Given the description of an element on the screen output the (x, y) to click on. 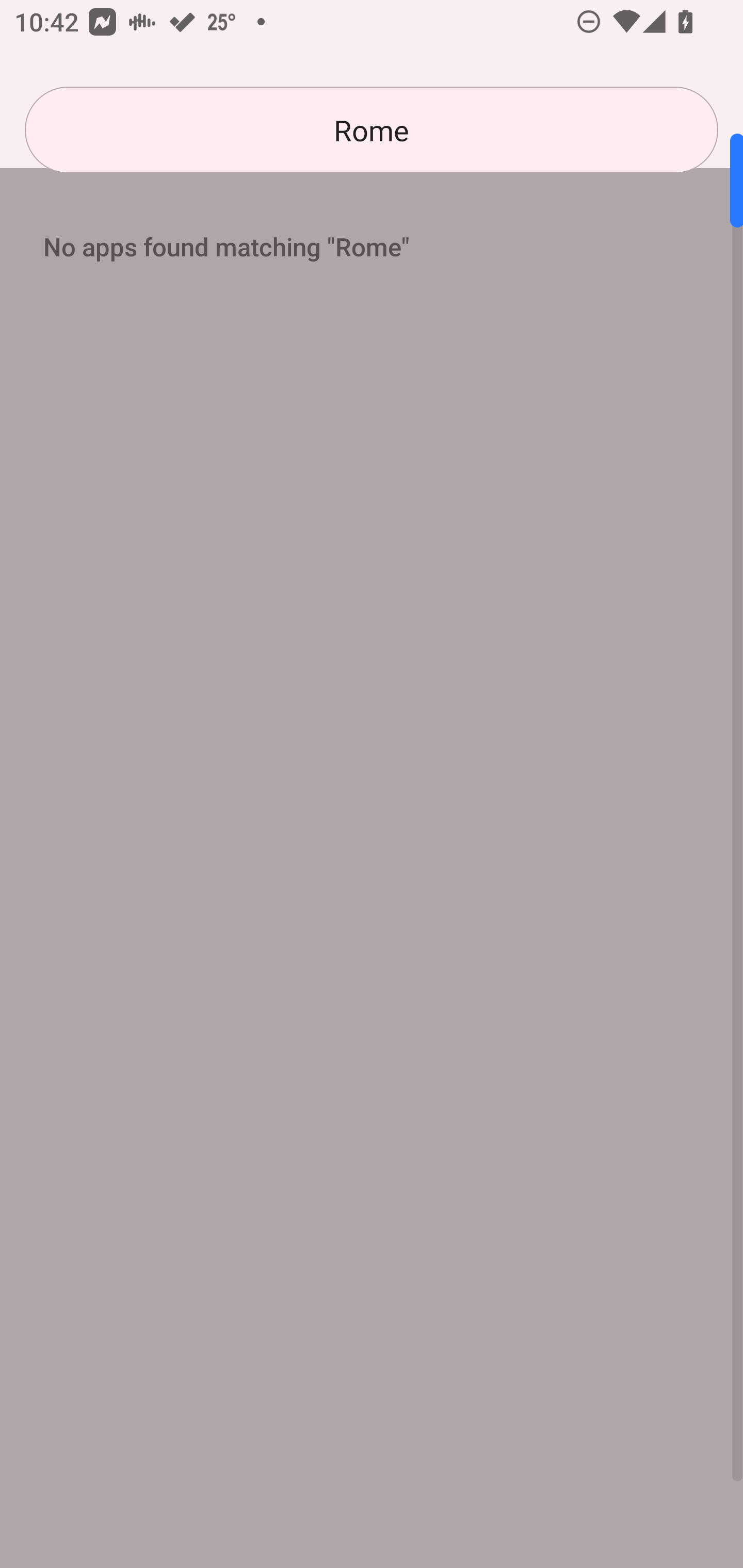
Rome (371, 130)
